Given the description of an element on the screen output the (x, y) to click on. 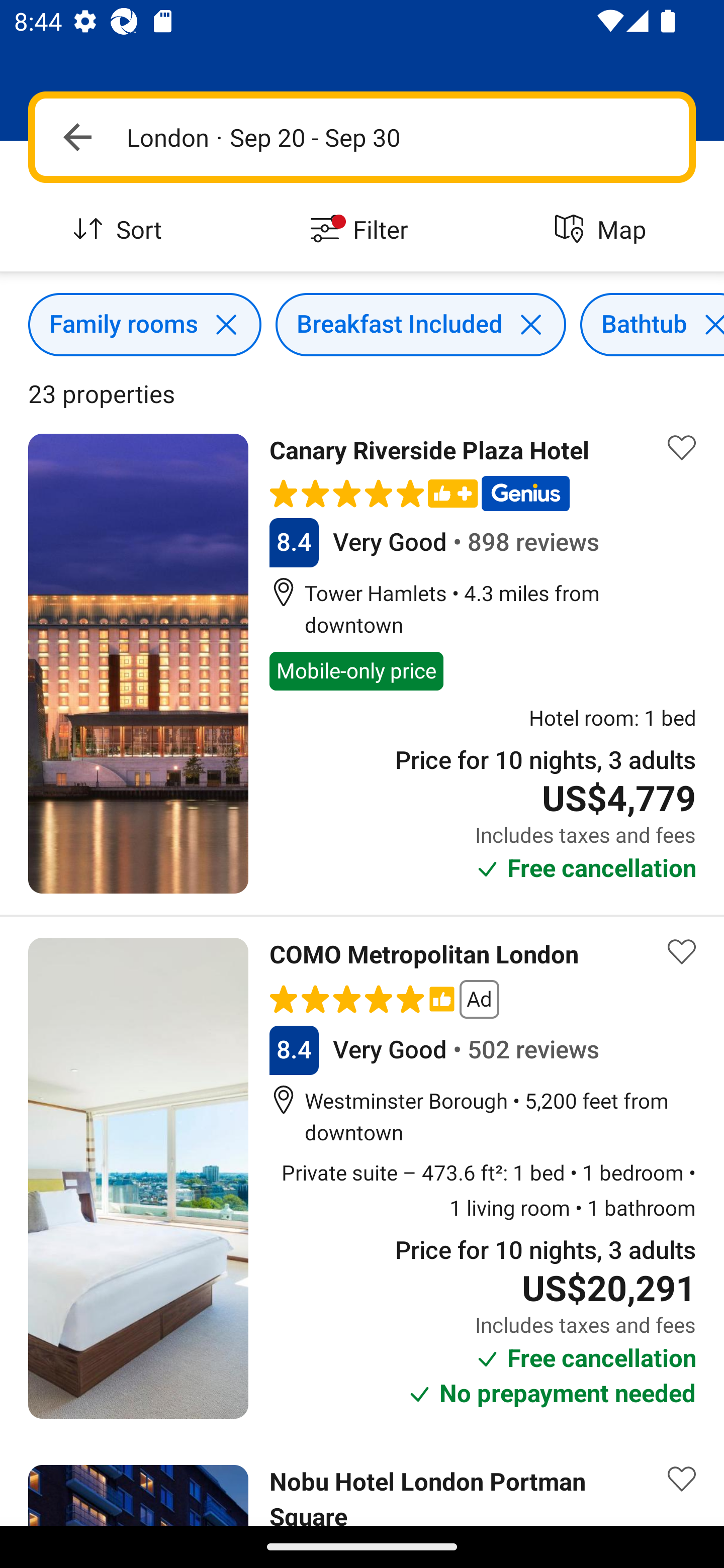
Navigate up London · Sep 20 - Sep 30 (362, 136)
Navigate up (77, 136)
Sort (120, 230)
Filter (361, 230)
Map (603, 230)
Save property to list (681, 447)
Save property to list (681, 951)
Save property to list (681, 1478)
